Given the description of an element on the screen output the (x, y) to click on. 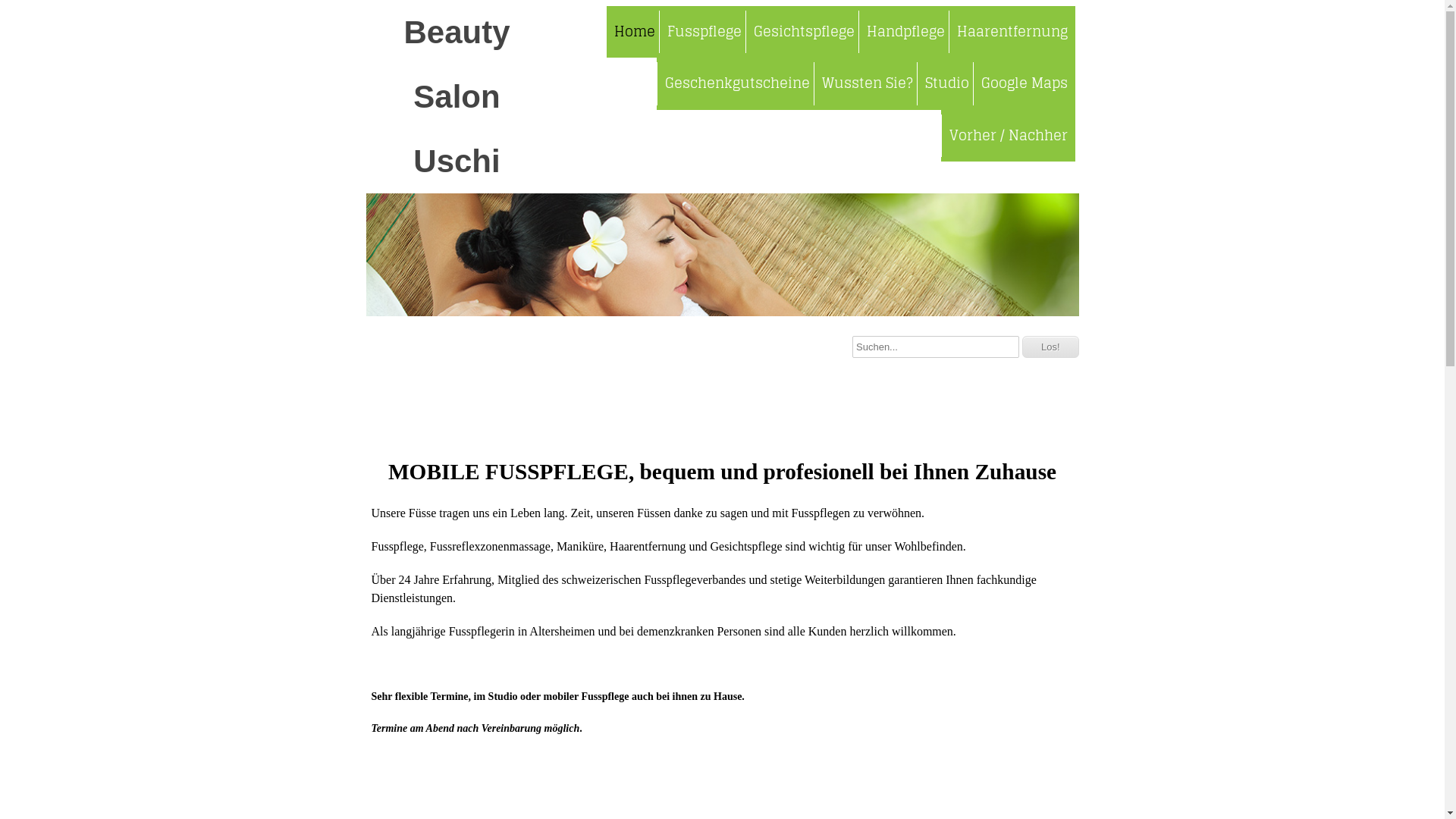
Vorher / Nachher Element type: text (1007, 135)
Wussten Sie? Element type: text (865, 83)
Los! Element type: text (1050, 346)
Handpflege Element type: text (905, 31)
Geschenkgutscheine Element type: text (736, 83)
Gesichtspflege Element type: text (802, 31)
Google Maps Element type: text (1023, 83)
Home Element type: text (634, 31)
Haarentfernung Element type: text (1010, 31)
Fusspflege Element type: text (703, 31)
Studio Element type: text (945, 83)
Beauty Salon Uschi Element type: text (456, 96)
